Given the description of an element on the screen output the (x, y) to click on. 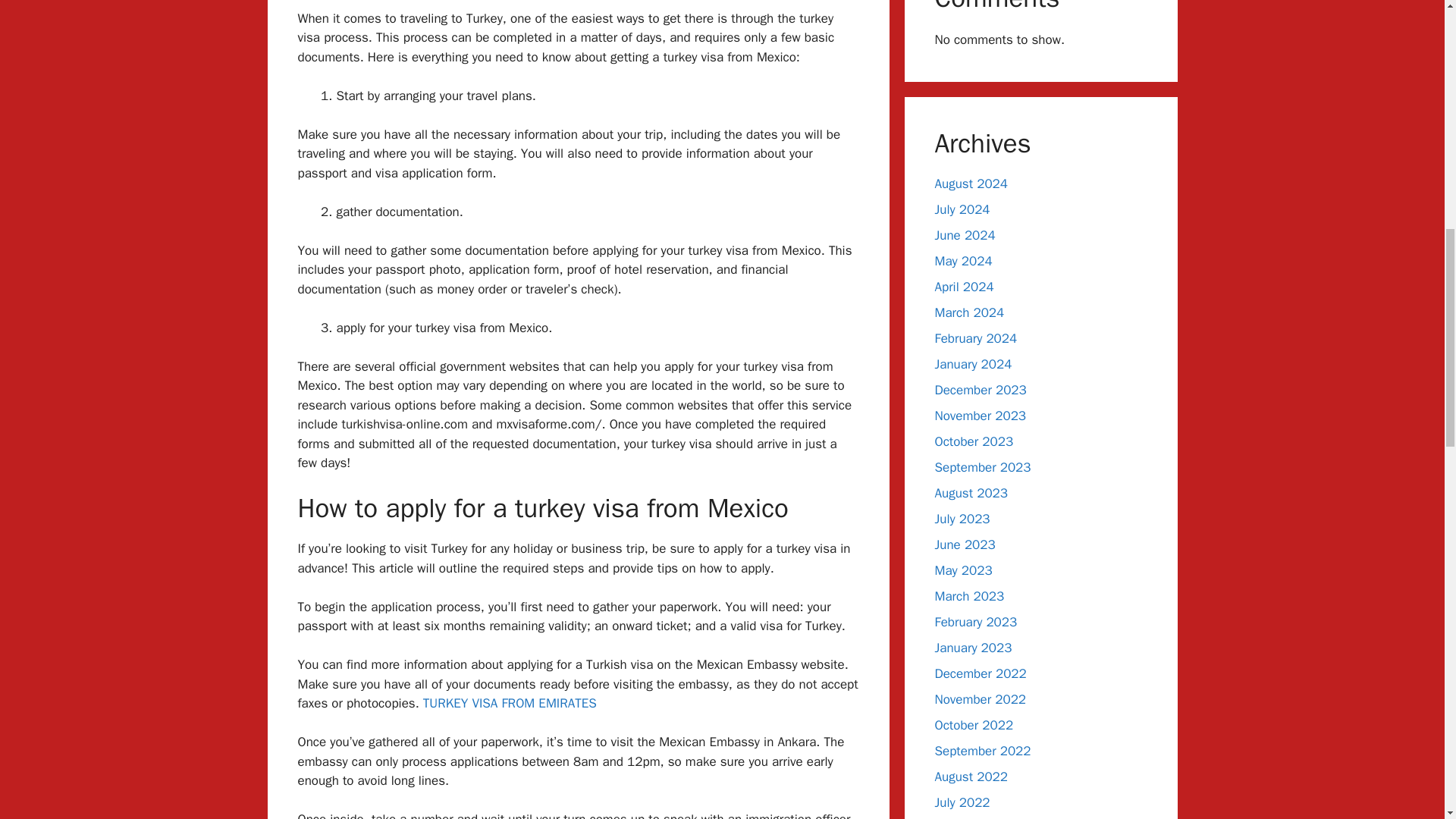
July 2023 (962, 519)
October 2023 (973, 441)
December 2023 (980, 390)
April 2024 (963, 286)
August 2024 (970, 183)
June 2024 (964, 235)
July 2024 (962, 209)
May 2024 (962, 261)
September 2023 (982, 467)
February 2024 (975, 338)
January 2024 (972, 364)
November 2023 (980, 415)
March 2024 (969, 312)
Scroll back to top (1406, 720)
August 2023 (970, 493)
